Given the description of an element on the screen output the (x, y) to click on. 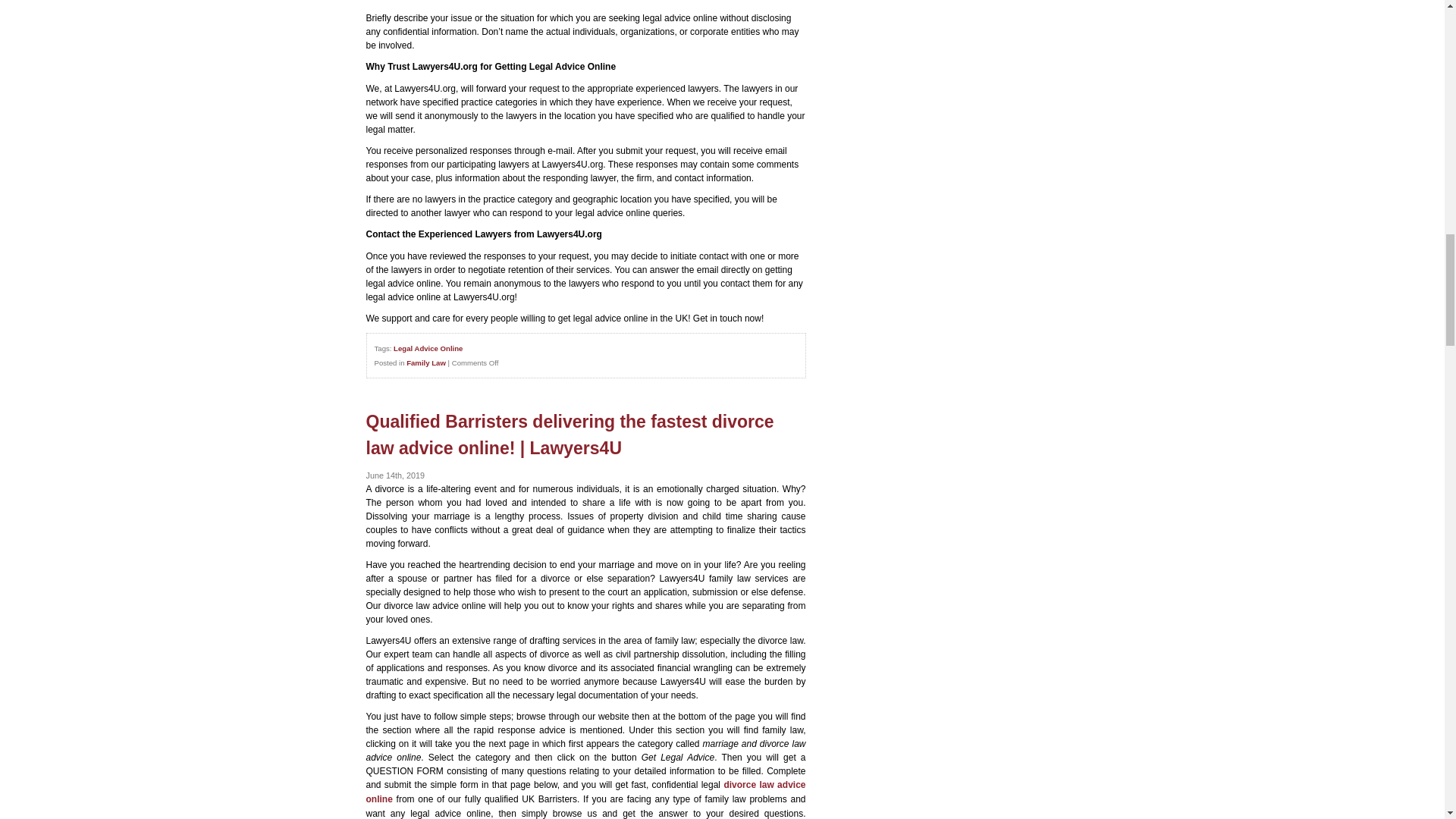
Family Law (425, 362)
divorce law advice online (585, 791)
Legal Advice Online (428, 347)
